Given the description of an element on the screen output the (x, y) to click on. 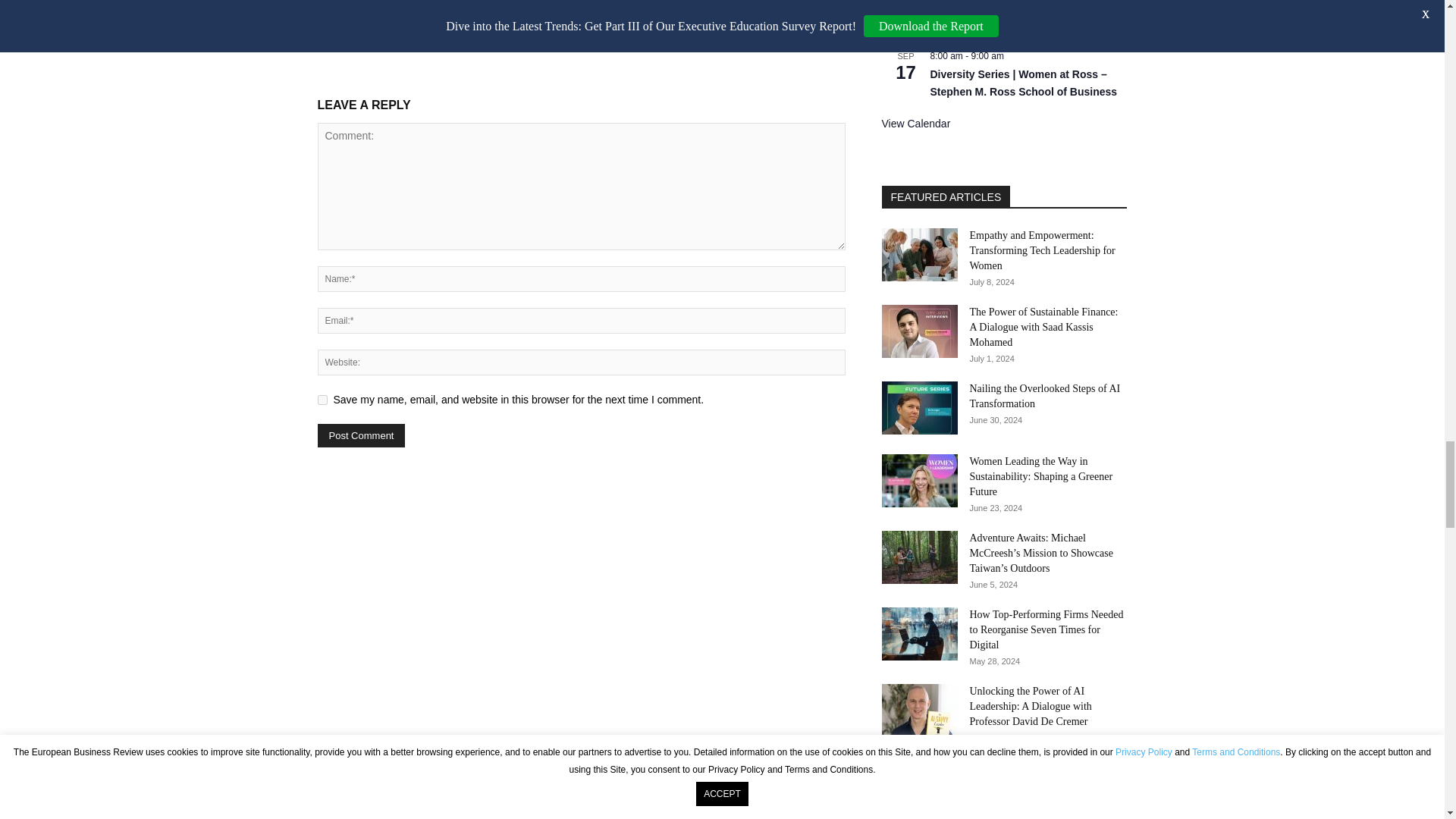
yes (321, 399)
Post Comment (360, 435)
